Given the description of an element on the screen output the (x, y) to click on. 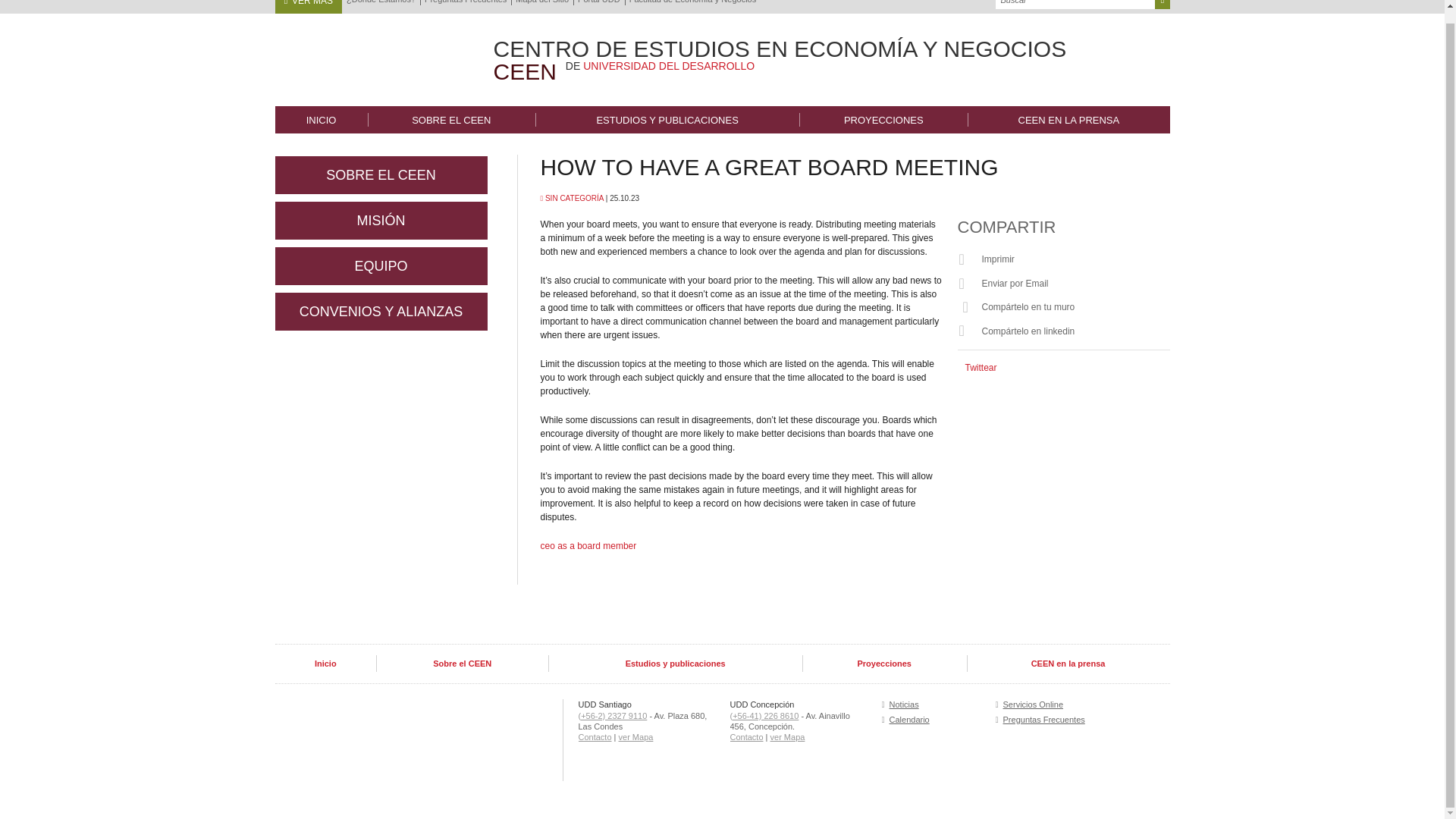
Universidad del Desarrollo (369, 54)
SOBRE EL CEEN (451, 119)
INICIO (320, 119)
Portal UDD (598, 4)
Preguntas Frecuentes (465, 4)
UNIVERSIDAD DEL DESARROLLO (668, 65)
Mapa del Sitio (542, 4)
ESTUDIOS Y PUBLICACIONES (667, 119)
